Given the description of an element on the screen output the (x, y) to click on. 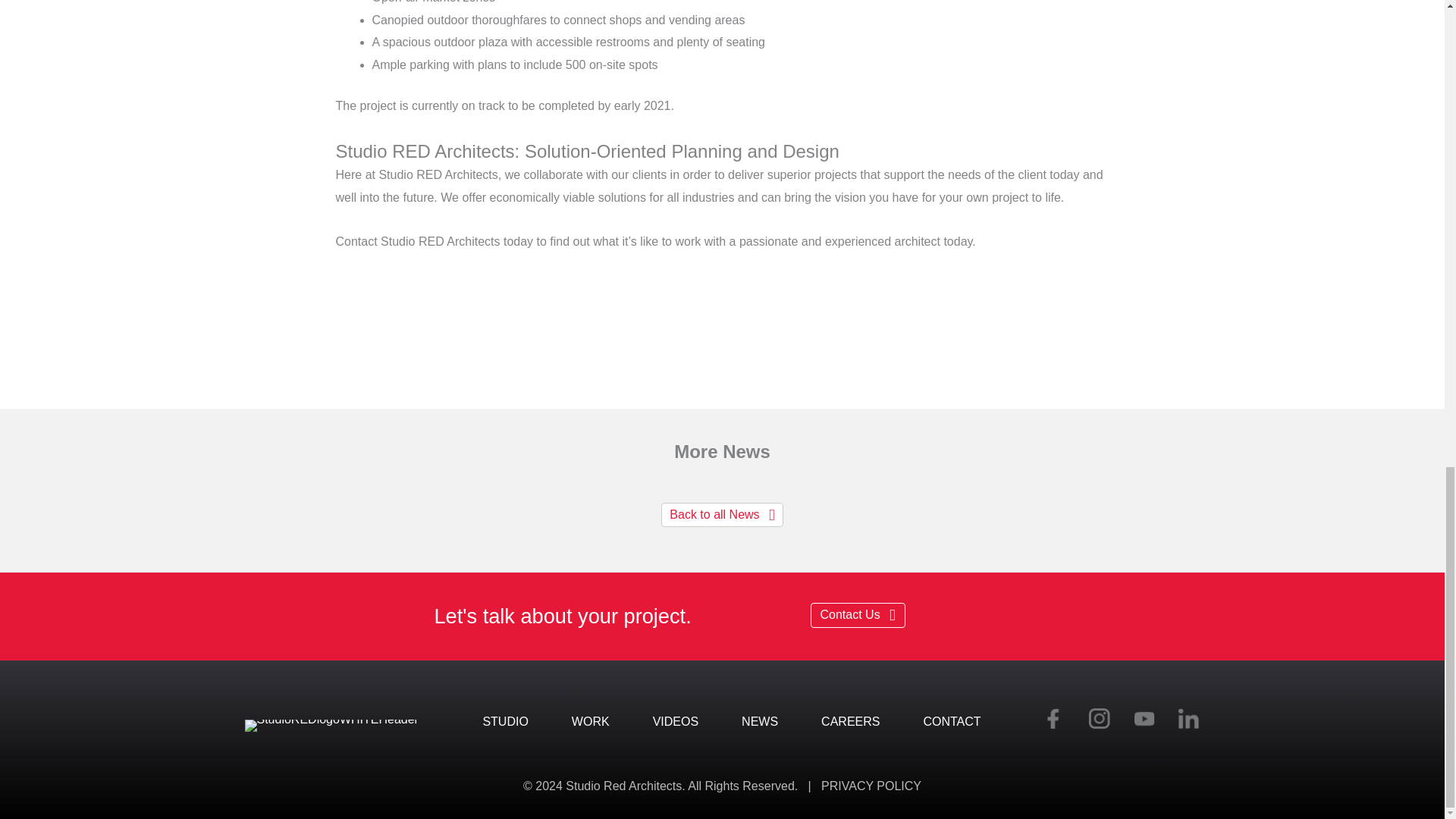
WORK (590, 721)
CAREERS (850, 721)
STUDIO (504, 721)
VIDEOS (675, 721)
NEWS (759, 721)
Contact Us (856, 615)
Back to all News (722, 514)
